Given the description of an element on the screen output the (x, y) to click on. 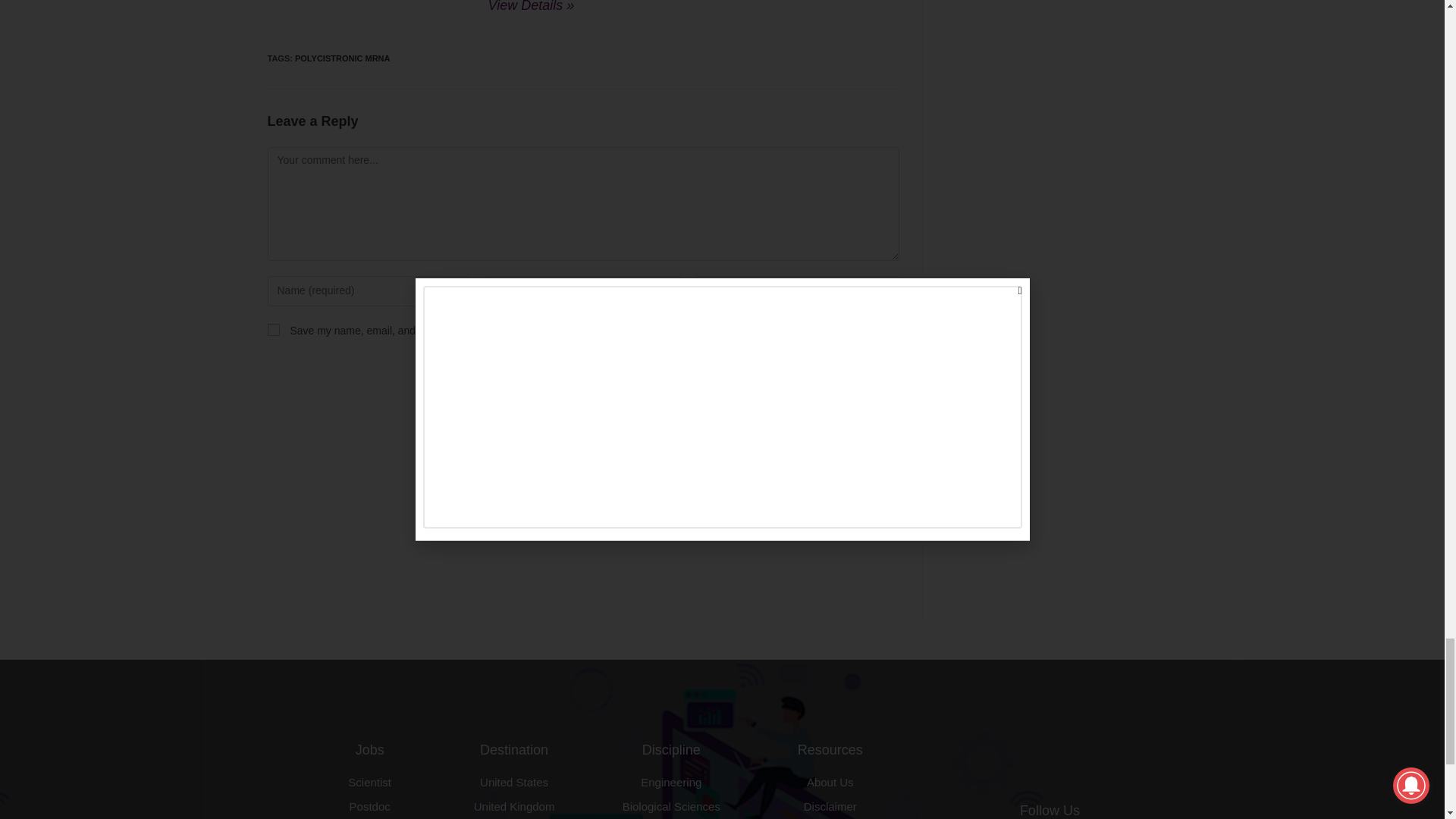
Post Comment (840, 372)
yes (272, 329)
